Given the description of an element on the screen output the (x, y) to click on. 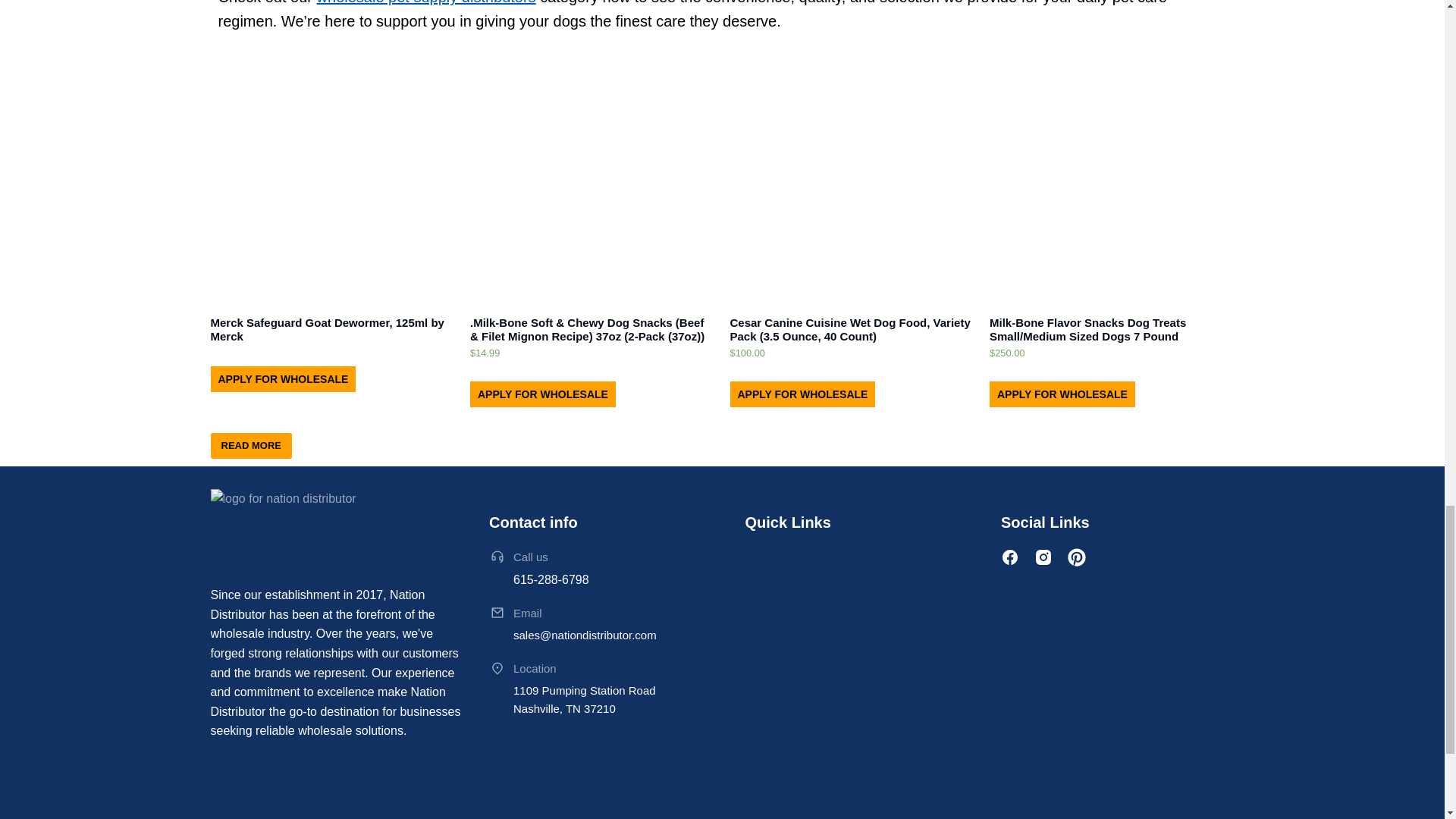
Merck Safeguard Goat Dewormer, 125ml by Merck (333, 329)
READ MORE (251, 445)
wholesale pet supply distributors (426, 2)
APPLY FOR WHOLESALE (283, 379)
